Given the description of an element on the screen output the (x, y) to click on. 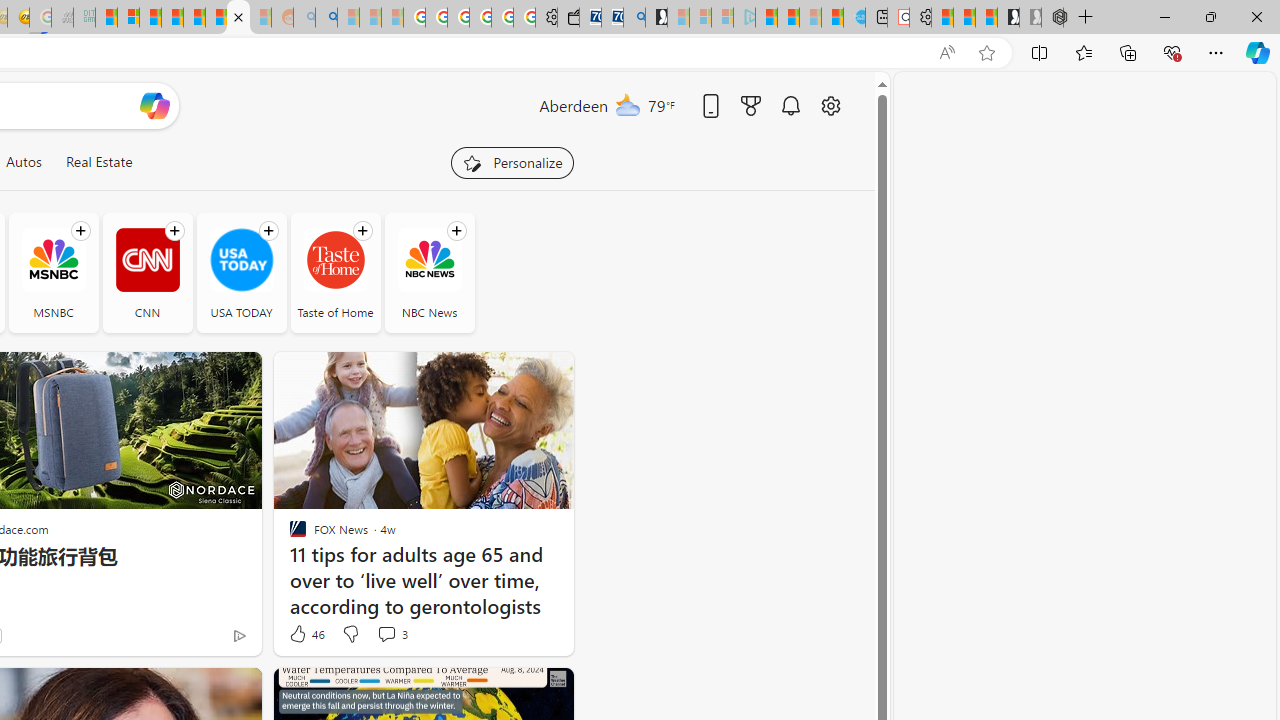
View comments 3 Comment (392, 633)
USA TODAY (240, 272)
CNN (147, 272)
